Given the description of an element on the screen output the (x, y) to click on. 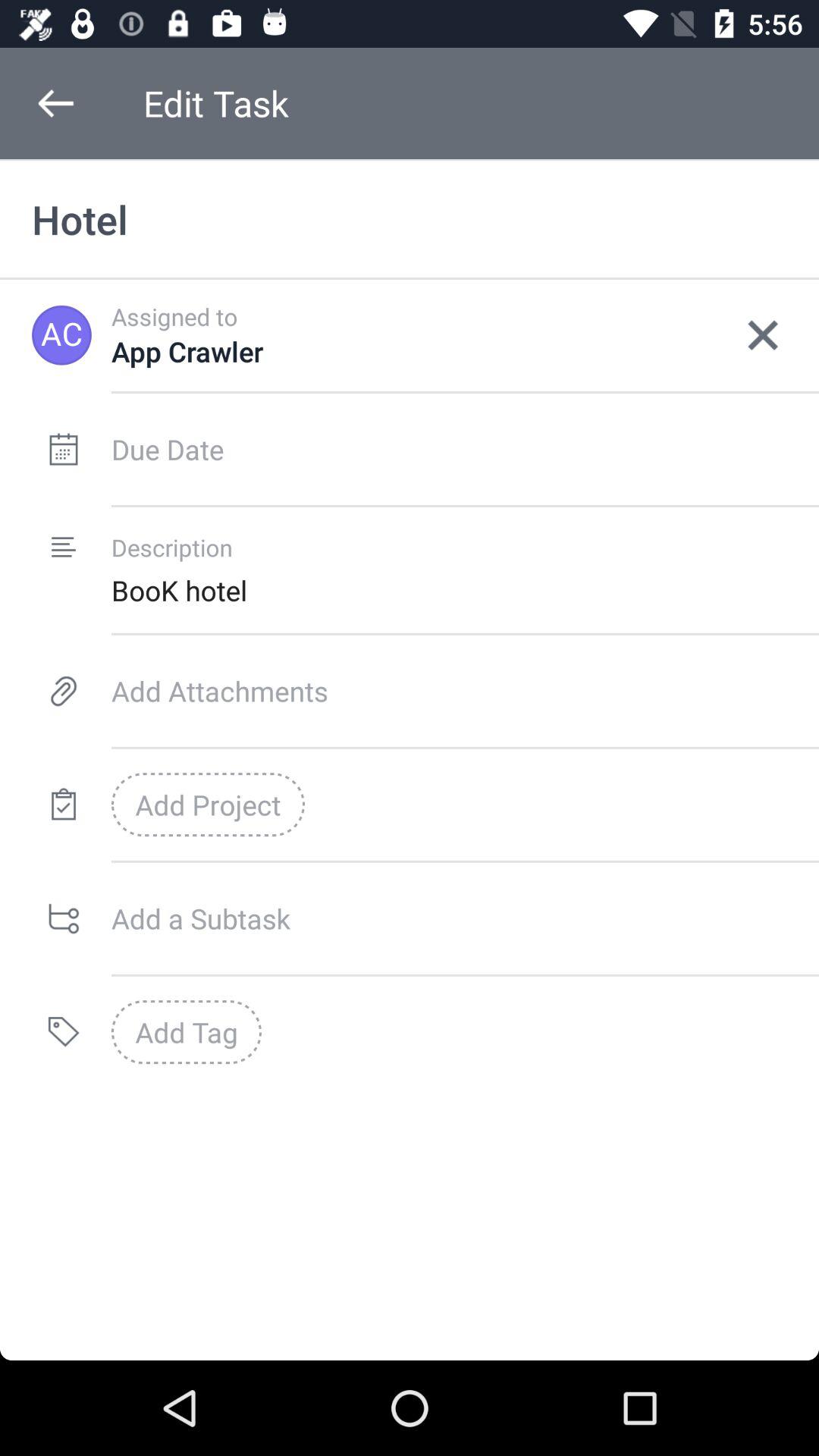
add a subtask (465, 918)
